Given the description of an element on the screen output the (x, y) to click on. 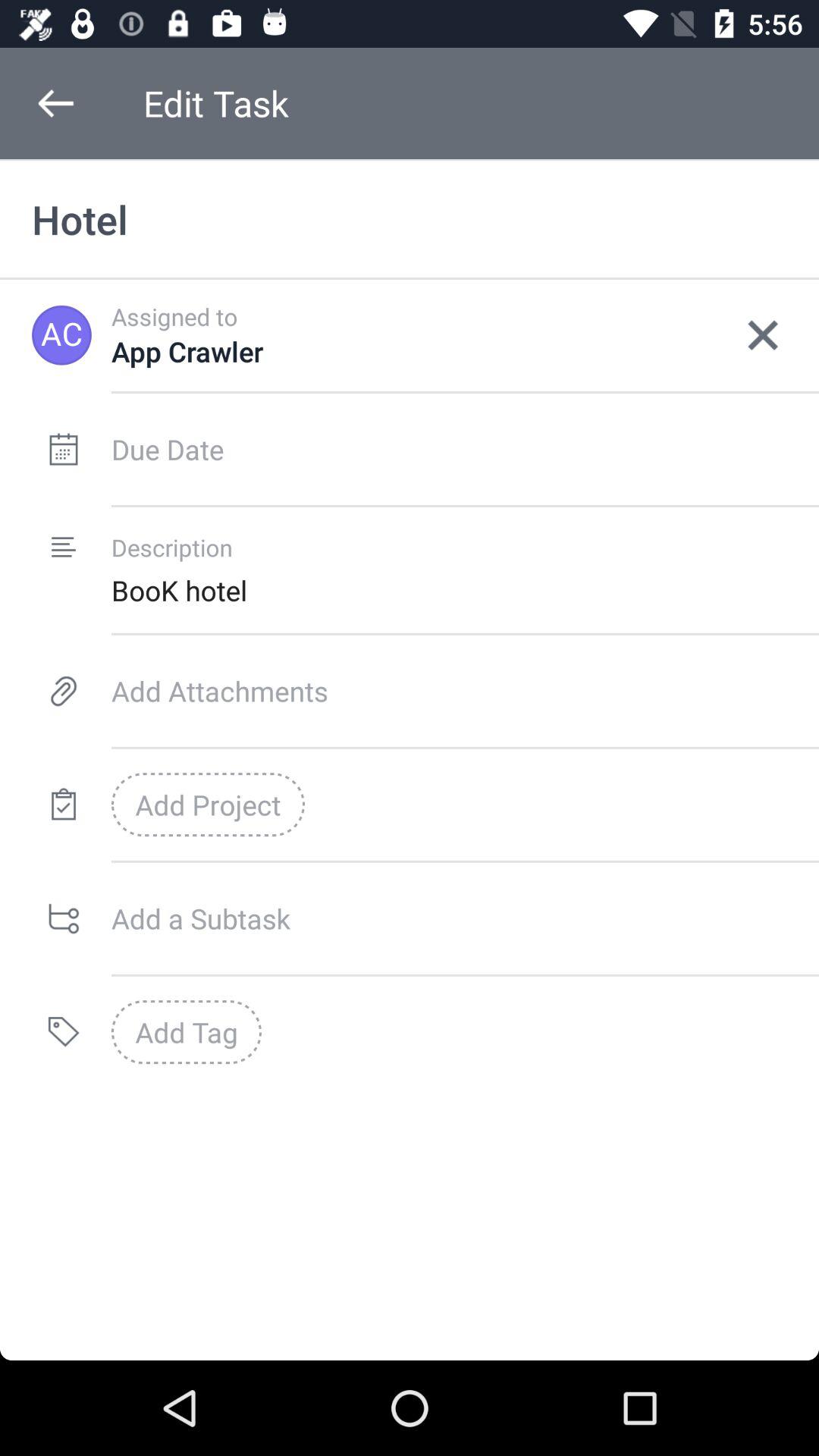
add a subtask (465, 918)
